Given the description of an element on the screen output the (x, y) to click on. 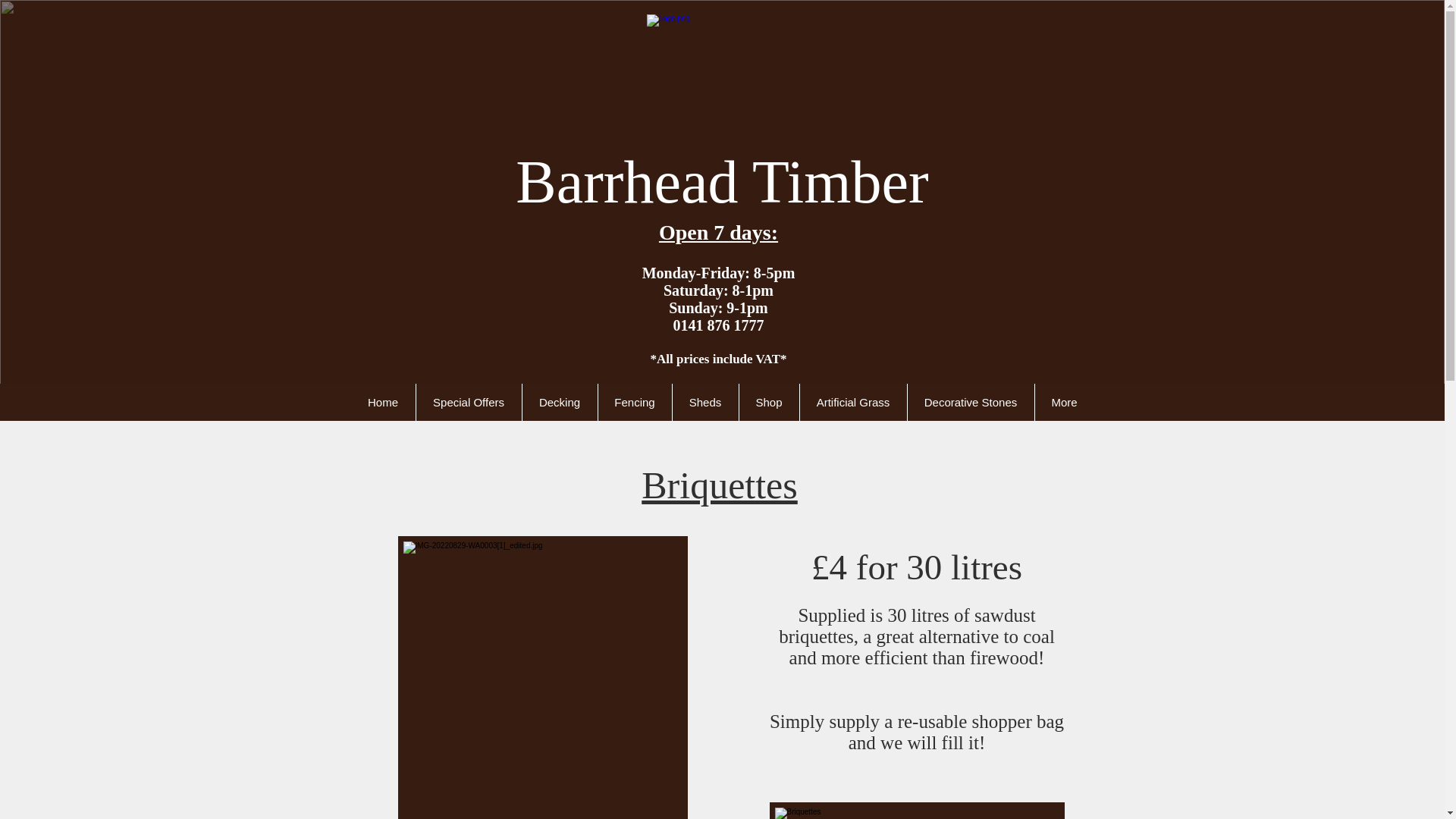
Decking (558, 402)
Home (382, 402)
Special Offers (467, 402)
Fencing (633, 402)
Decorative Stones (970, 402)
Shop (768, 402)
Artificial Grass (853, 402)
Sheds (704, 402)
